Given the description of an element on the screen output the (x, y) to click on. 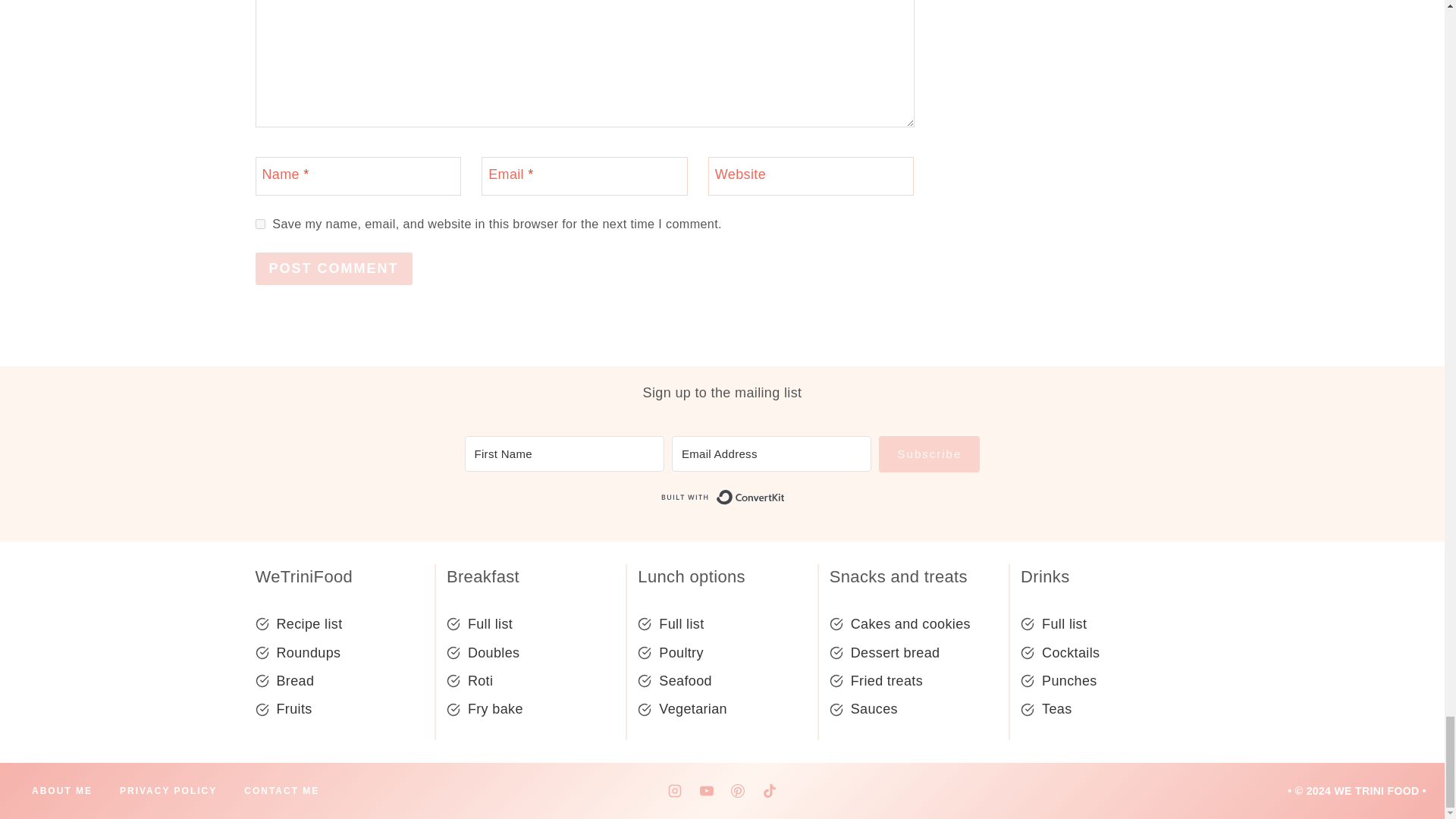
Post Comment (333, 268)
yes (259, 224)
Post Comment (333, 268)
Subscribe (929, 453)
